Given the description of an element on the screen output the (x, y) to click on. 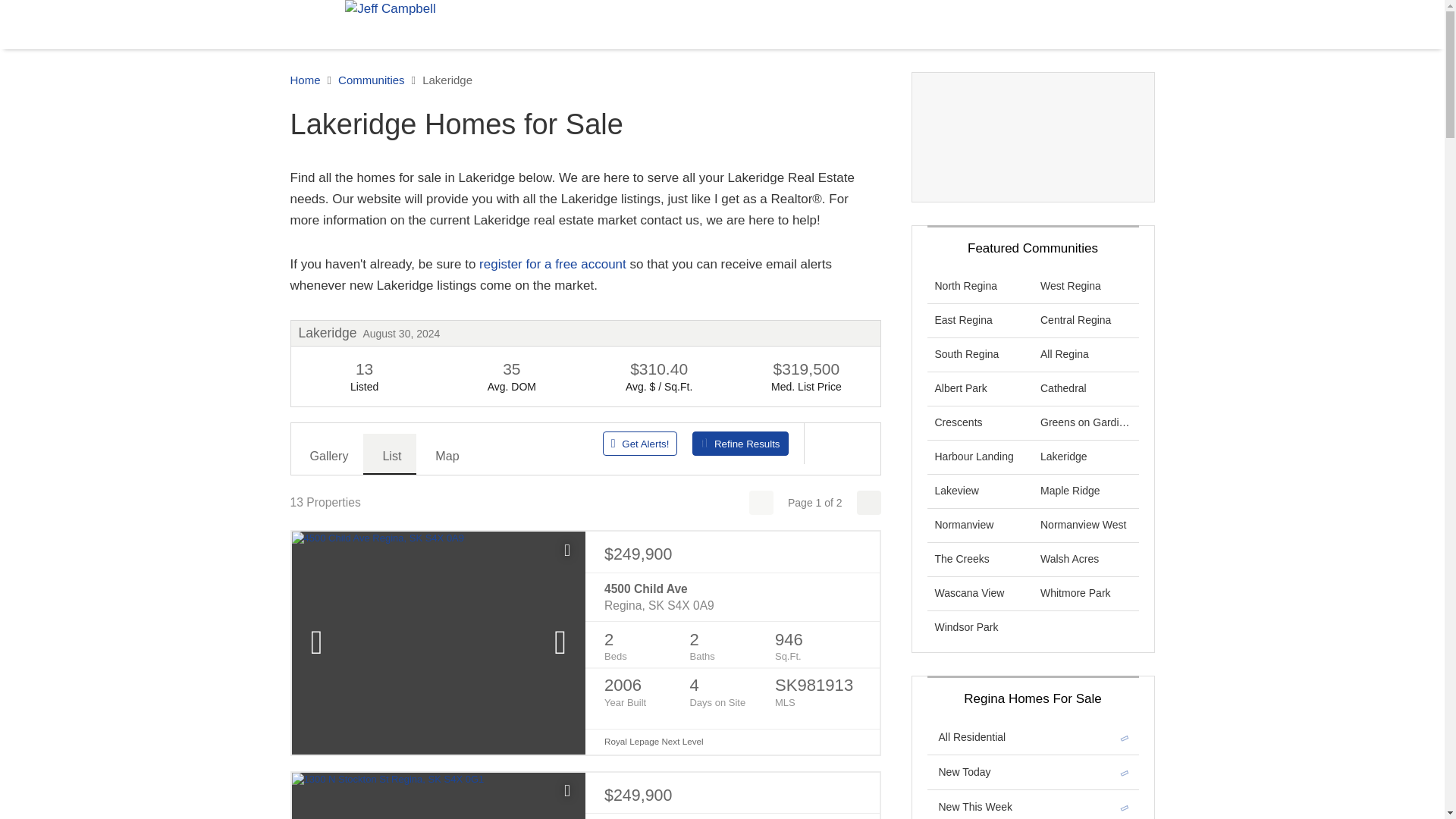
List (389, 454)
Gallery (327, 454)
Map (445, 454)
Home (304, 79)
Get Alerts! (640, 443)
4500 Child Ave Regina,  SK S4X 0A9 (732, 597)
register for a free account (552, 264)
Refine Results (740, 443)
Communities (370, 79)
Email Listing Alerts (552, 264)
